Given the description of an element on the screen output the (x, y) to click on. 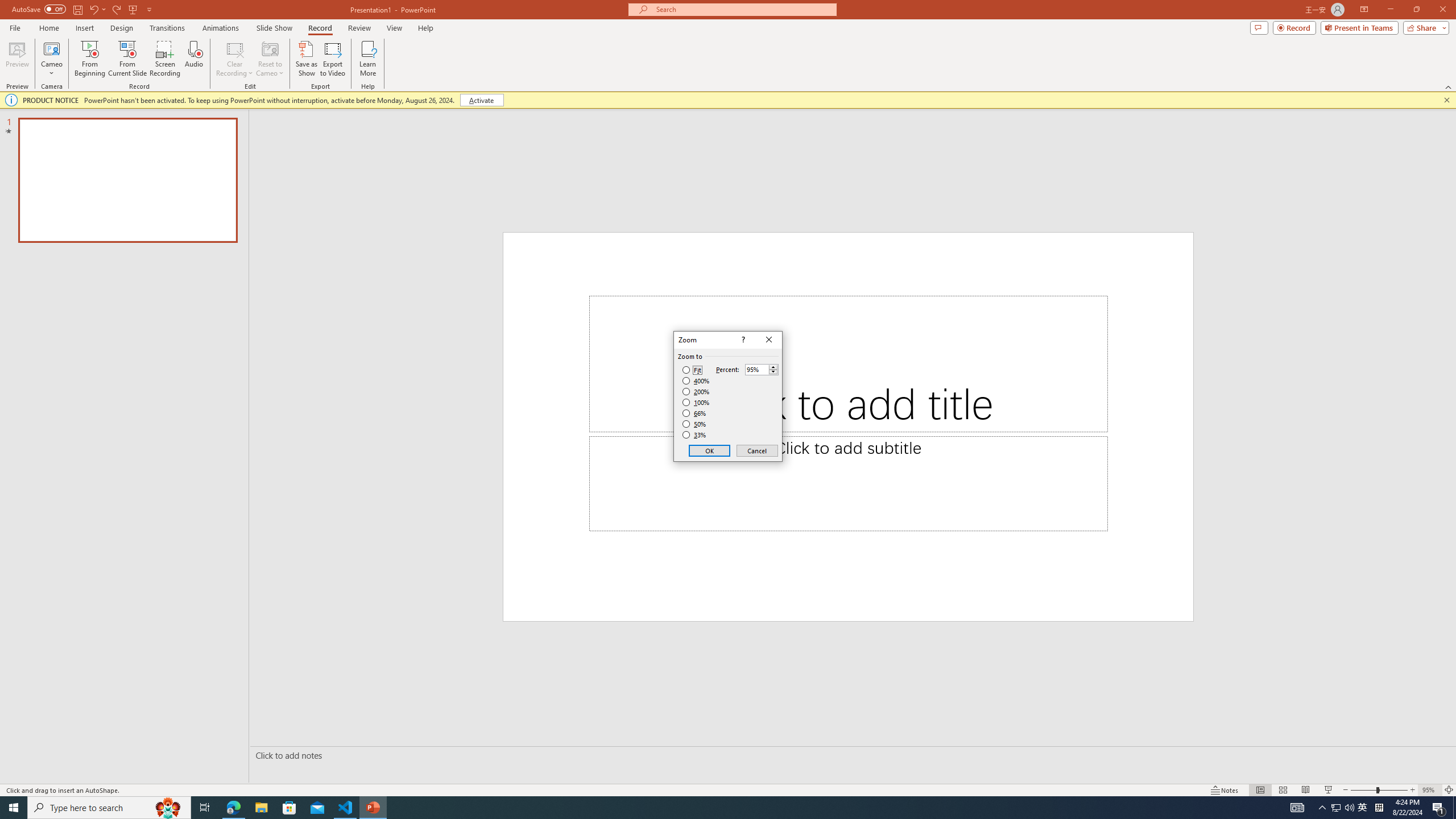
OK (709, 450)
Activate (481, 100)
Zoom 95% (1430, 790)
